Given the description of an element on the screen output the (x, y) to click on. 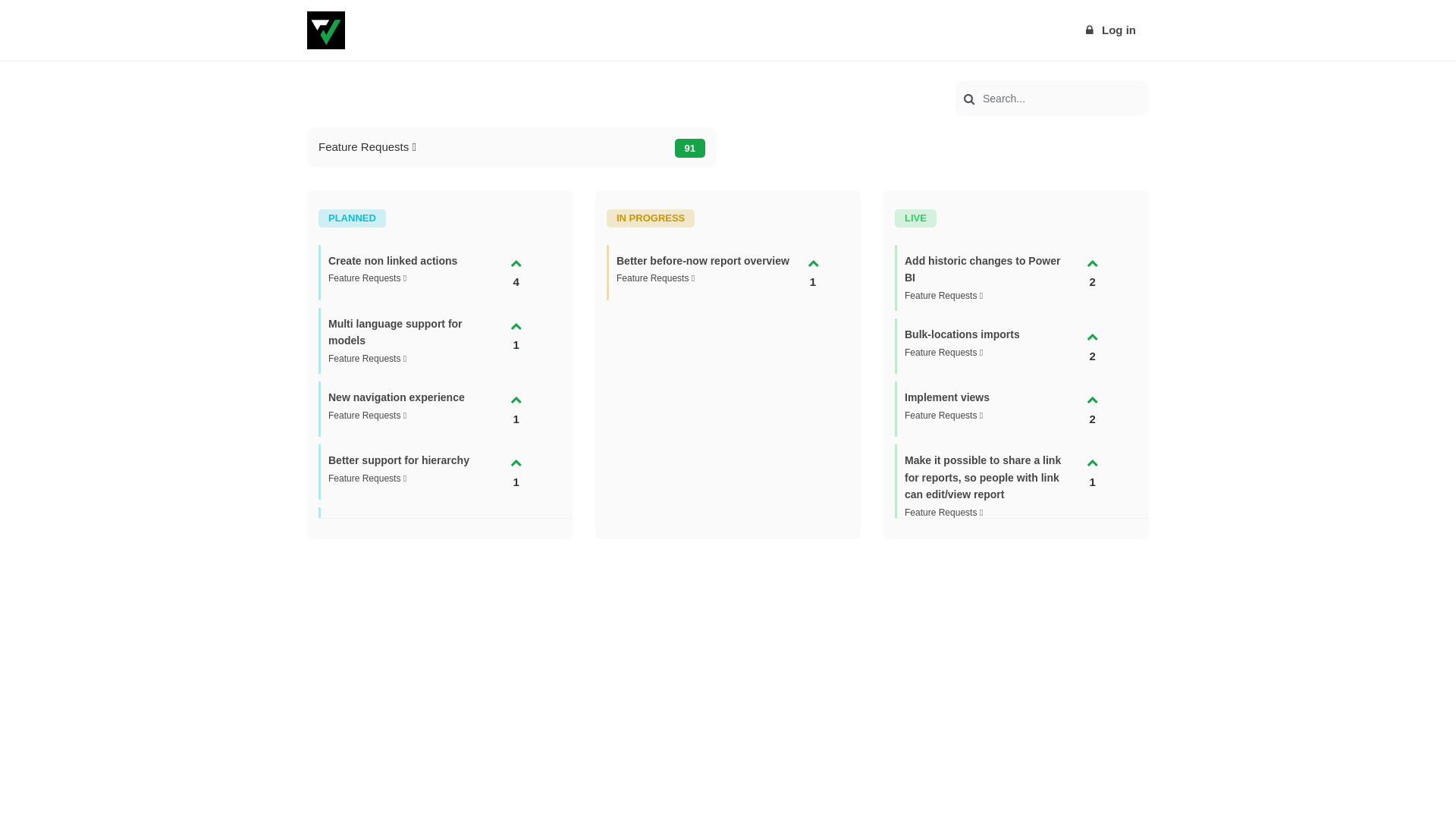
Thousand seperator on cost estimates Element type: text (399, 742)
Add historic changes to Power BI Element type: text (982, 269)
Log in Element type: text (1109, 30)
Create non linked actions Element type: text (392, 260)
Bulk-locations imports Element type: text (961, 334)
Better support for hierarchy Element type: text (398, 460)
Make it possible to toggle required properties on risk model Element type: text (971, 768)
Multi language support for models Element type: text (395, 332)
Auto-upload of images/files Element type: text (974, 688)
Better before-now report overview Element type: text (702, 260)
Add custom roles configuration Element type: text (984, 551)
Adding "many" reports for multiple sites(!) Element type: text (395, 669)
Implement views Element type: text (946, 397)
New navigation experience Element type: text (396, 397)
Rejected status Element type: text (367, 597)
21RISK usage metrics Power BI app Element type: text (408, 531)
Add a "featured" list to risk library Element type: text (972, 622)
